Given the description of an element on the screen output the (x, y) to click on. 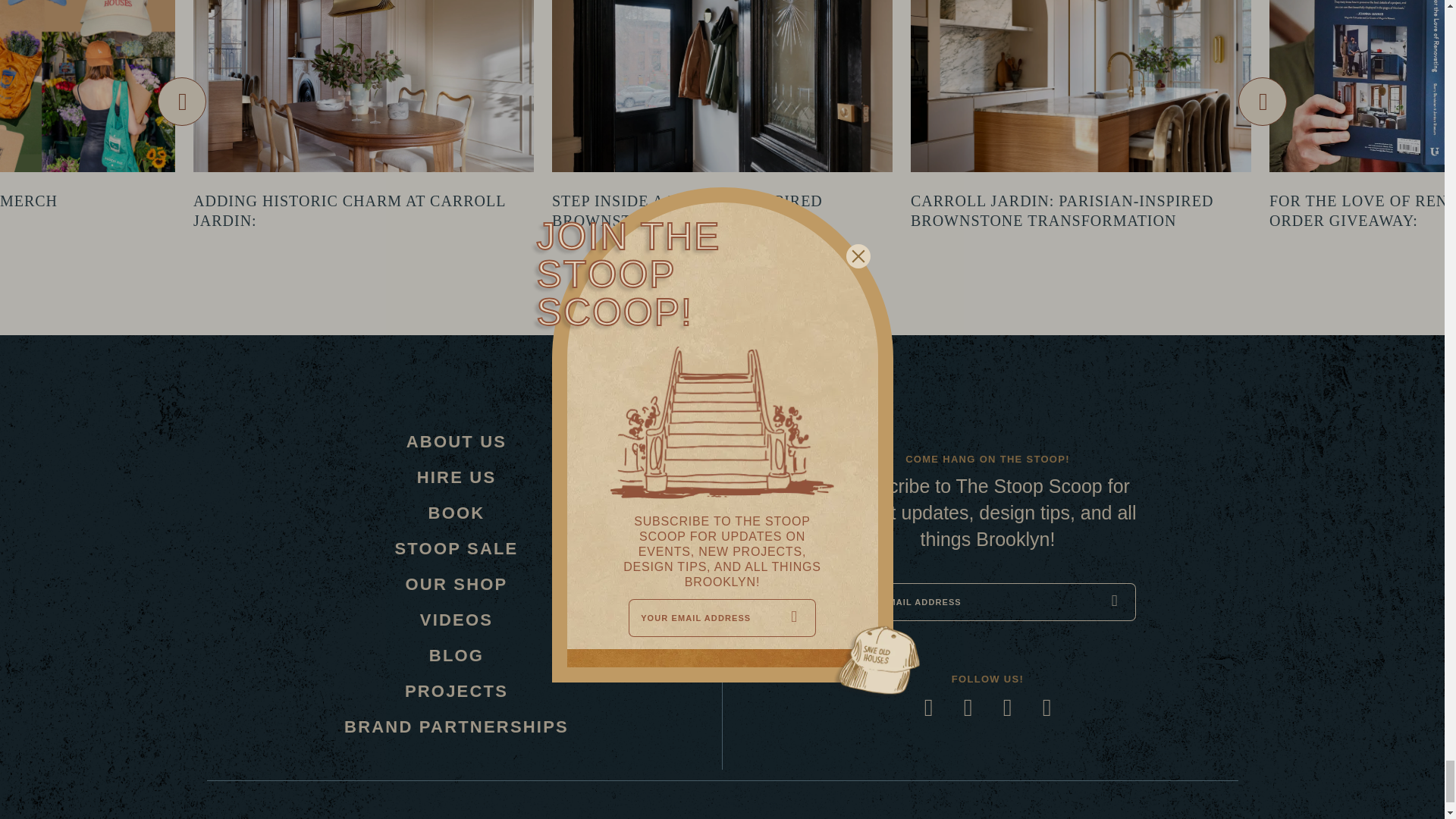
Adding Historic Charm at Carroll Jardin: (349, 210)
Brownstone Boys Merch (29, 200)
